Given the description of an element on the screen output the (x, y) to click on. 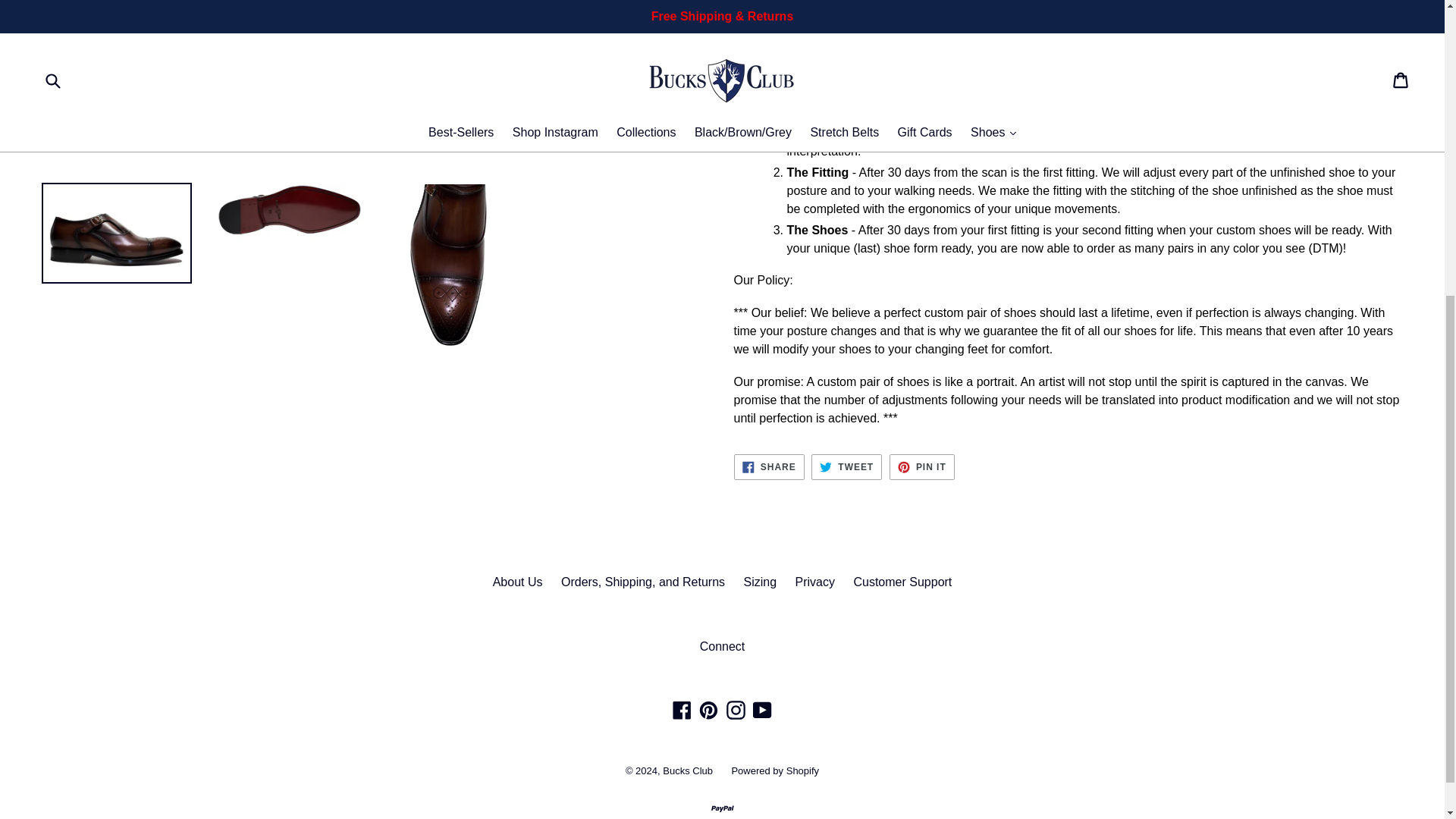
Bucks Club on Pinterest (708, 710)
Sizing (769, 466)
Pin on Pinterest (922, 466)
Share on Facebook (760, 581)
Bucks Club on Facebook (922, 466)
Bucks Club on YouTube (769, 466)
Privacy (681, 710)
Orders, Shipping, and Returns (762, 710)
Bucks Club on Instagram (814, 581)
Tweet on Twitter (642, 581)
About Us (735, 710)
